Given the description of an element on the screen output the (x, y) to click on. 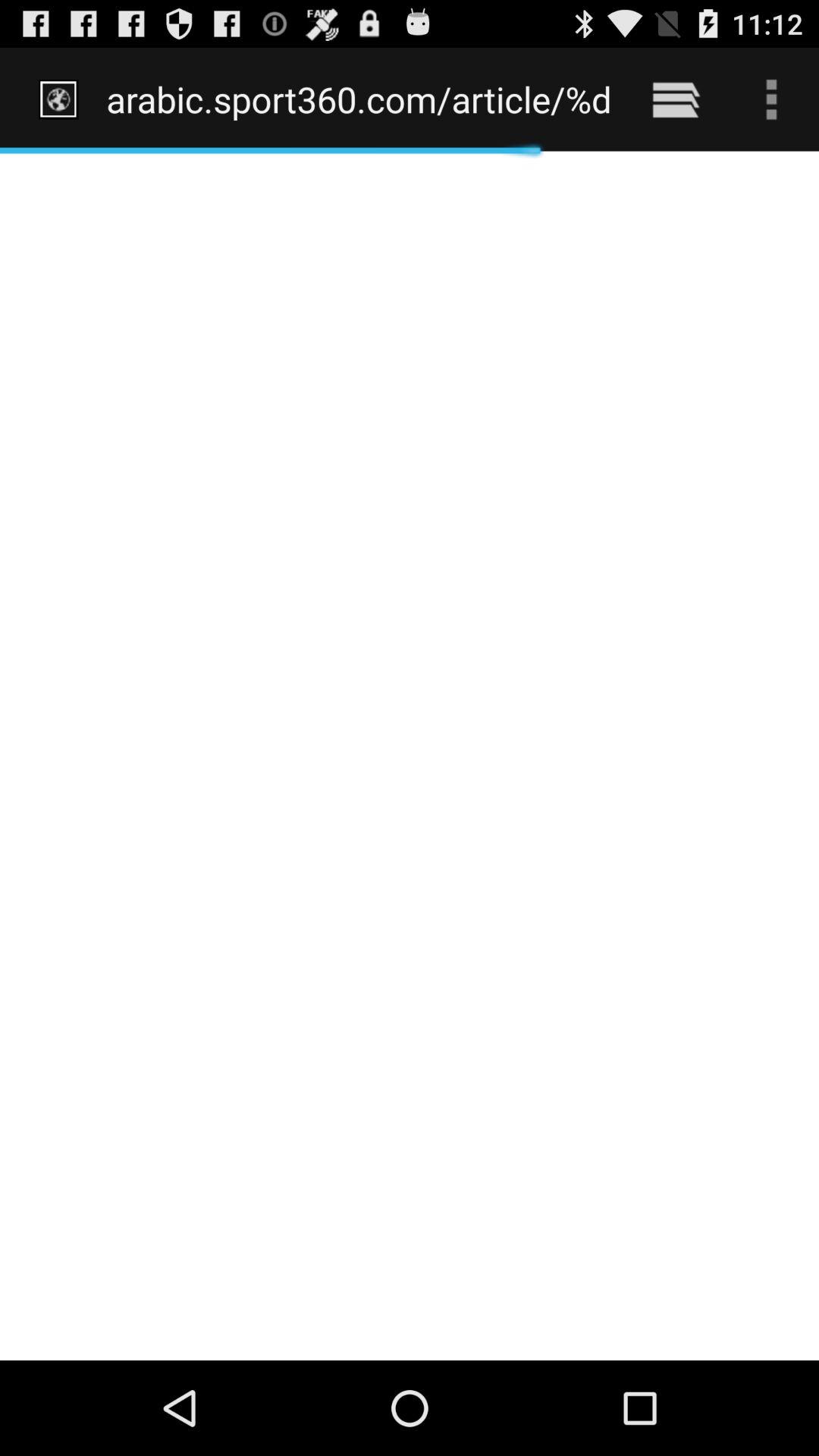
scroll to the arabic sport360 com item (357, 99)
